Given the description of an element on the screen output the (x, y) to click on. 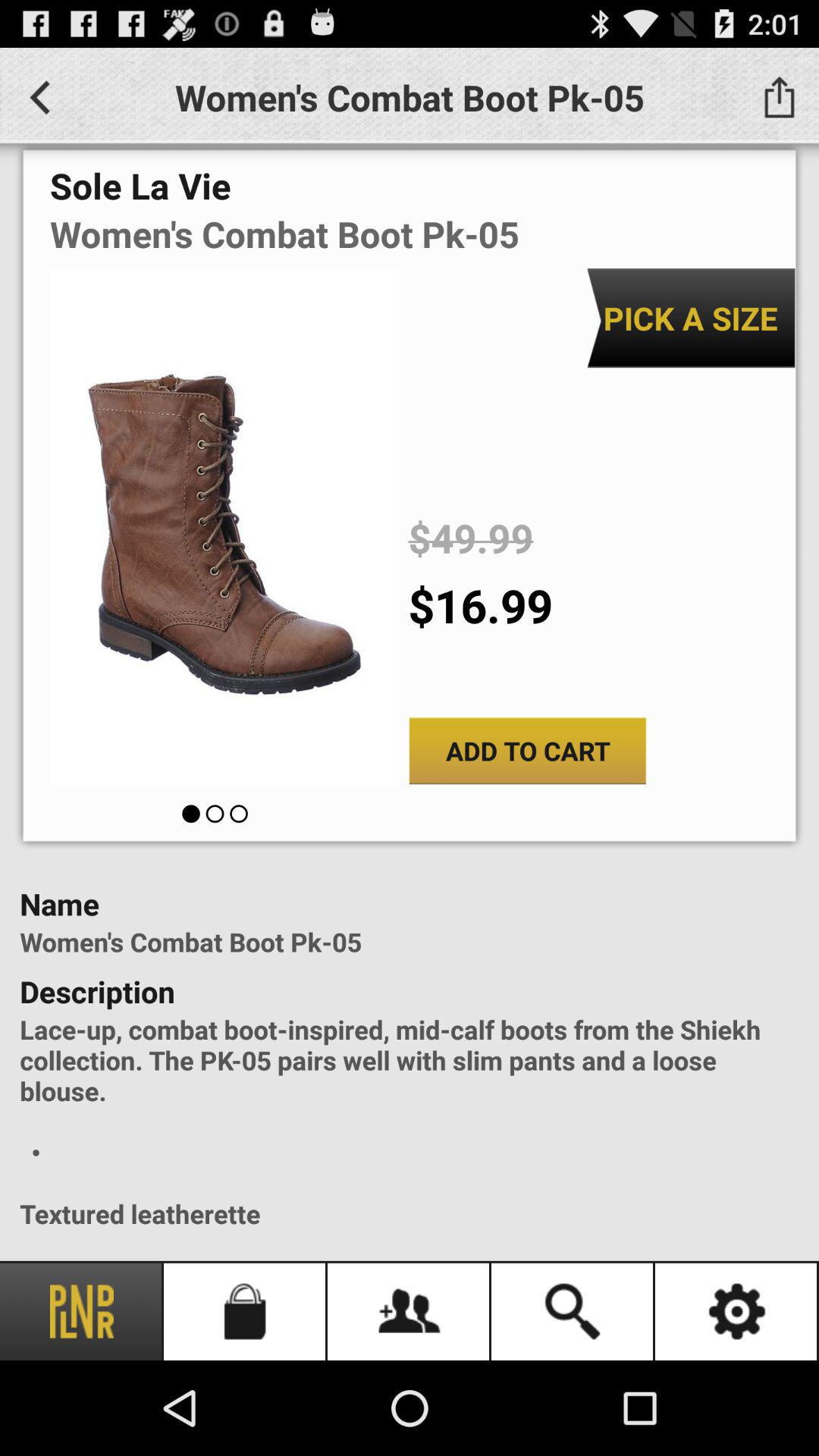
tap pick a size icon (690, 317)
